Given the description of an element on the screen output the (x, y) to click on. 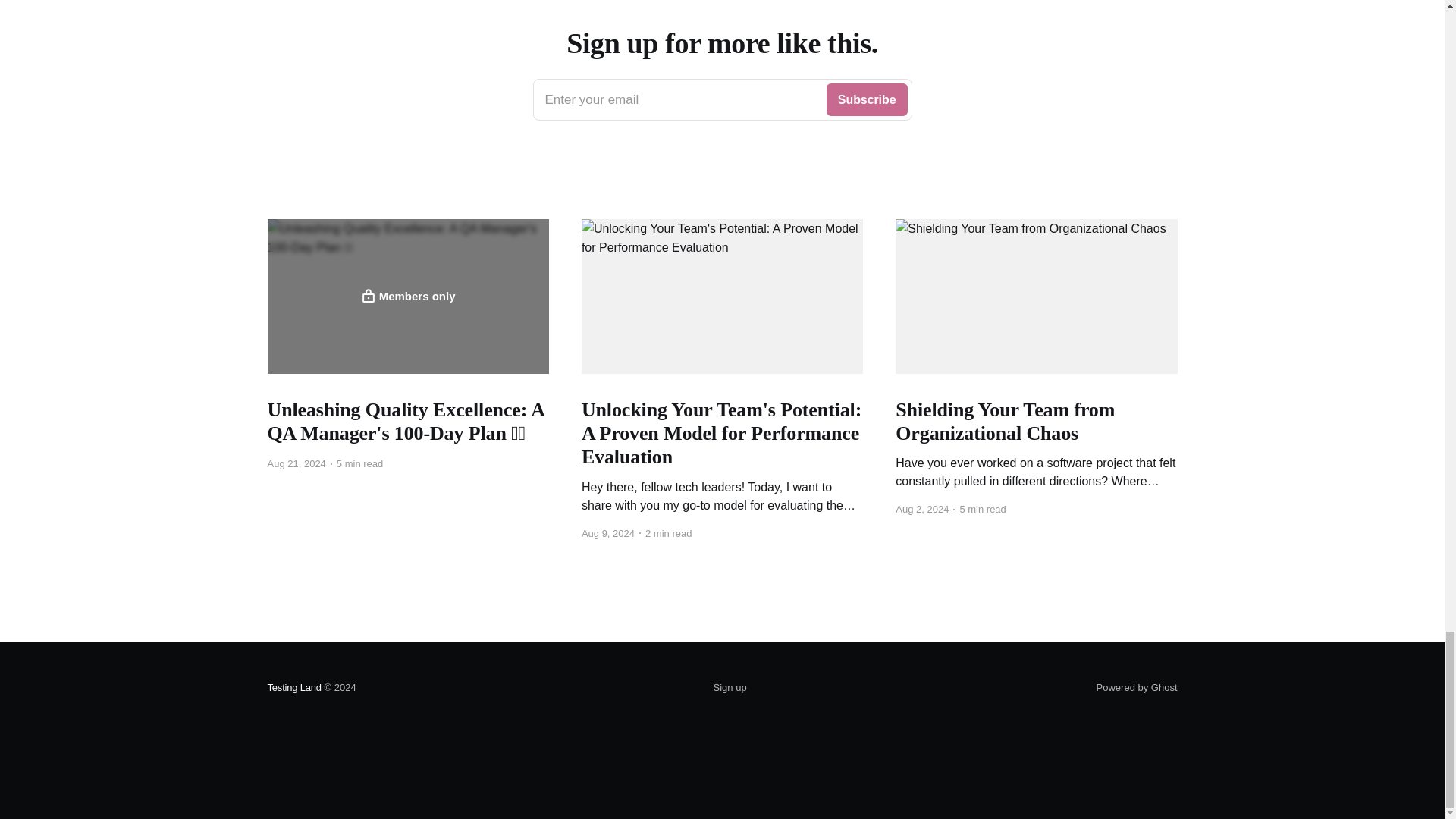
Sign up (729, 687)
Members only (721, 99)
Testing Land (407, 296)
Powered by Ghost (293, 686)
